Given the description of an element on the screen output the (x, y) to click on. 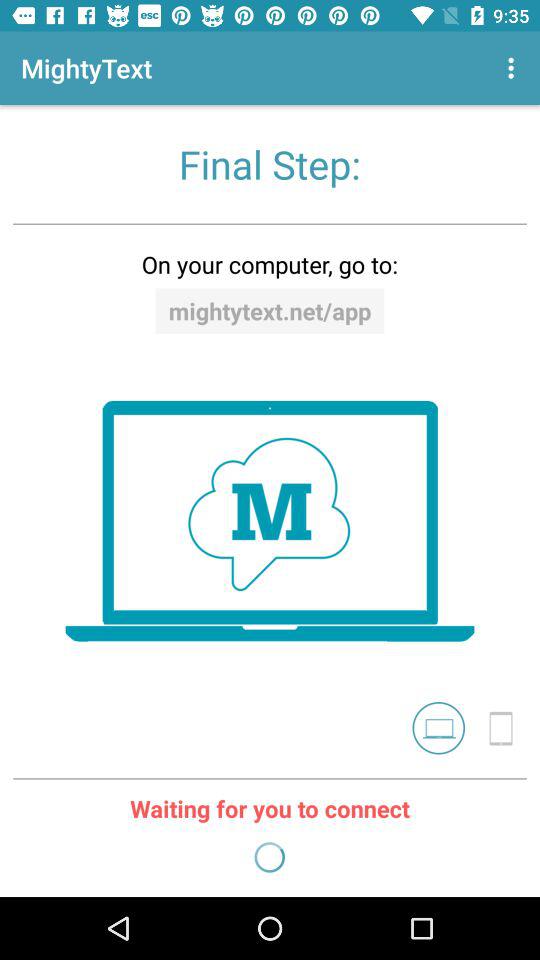
choose the icon to the right of the mightytext app (513, 67)
